Given the description of an element on the screen output the (x, y) to click on. 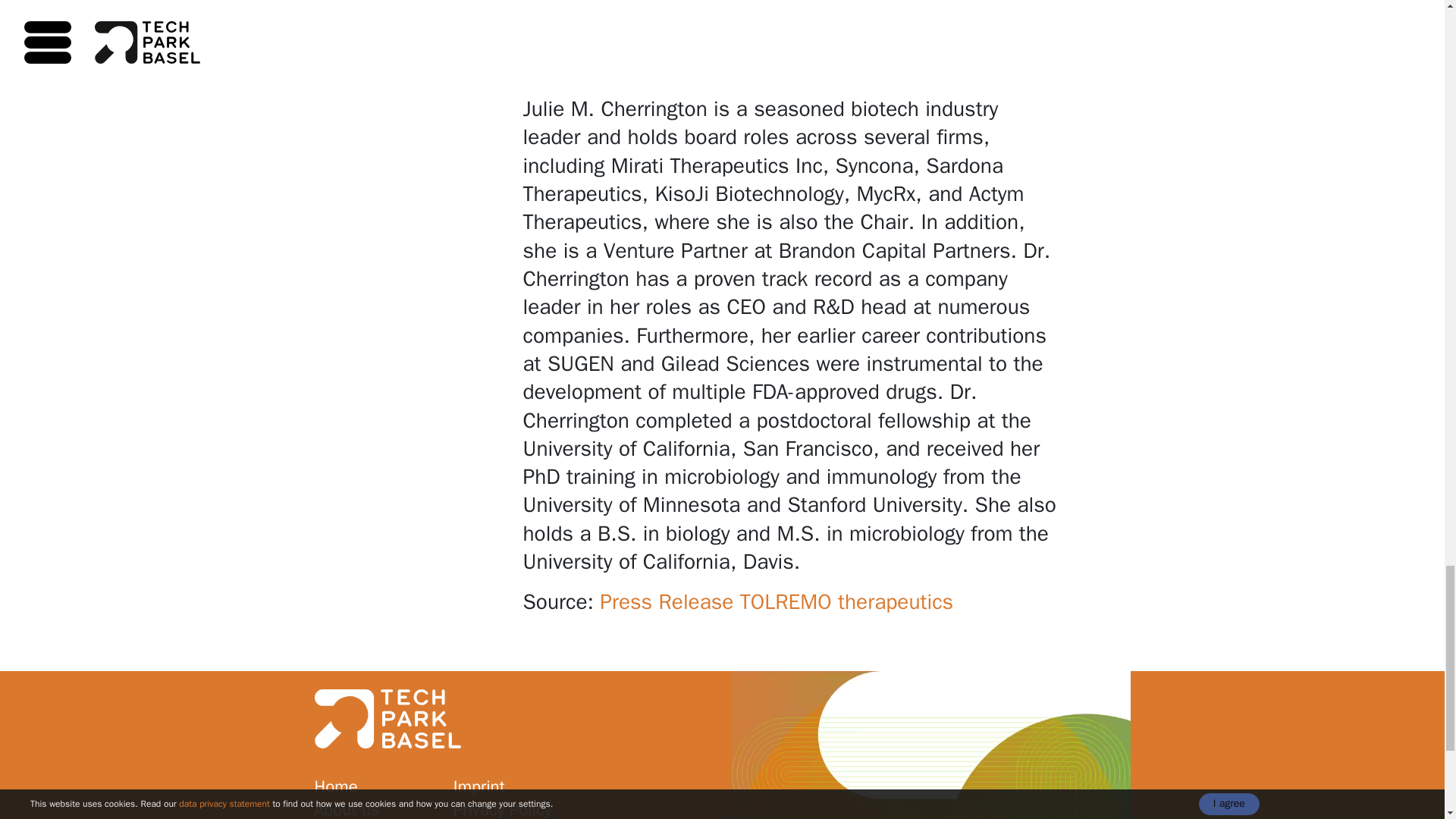
About us (373, 808)
Imprint (512, 786)
Press Release TOLREMO therapeutics (776, 601)
Home (373, 786)
Privacy Policy (512, 808)
